Given the description of an element on the screen output the (x, y) to click on. 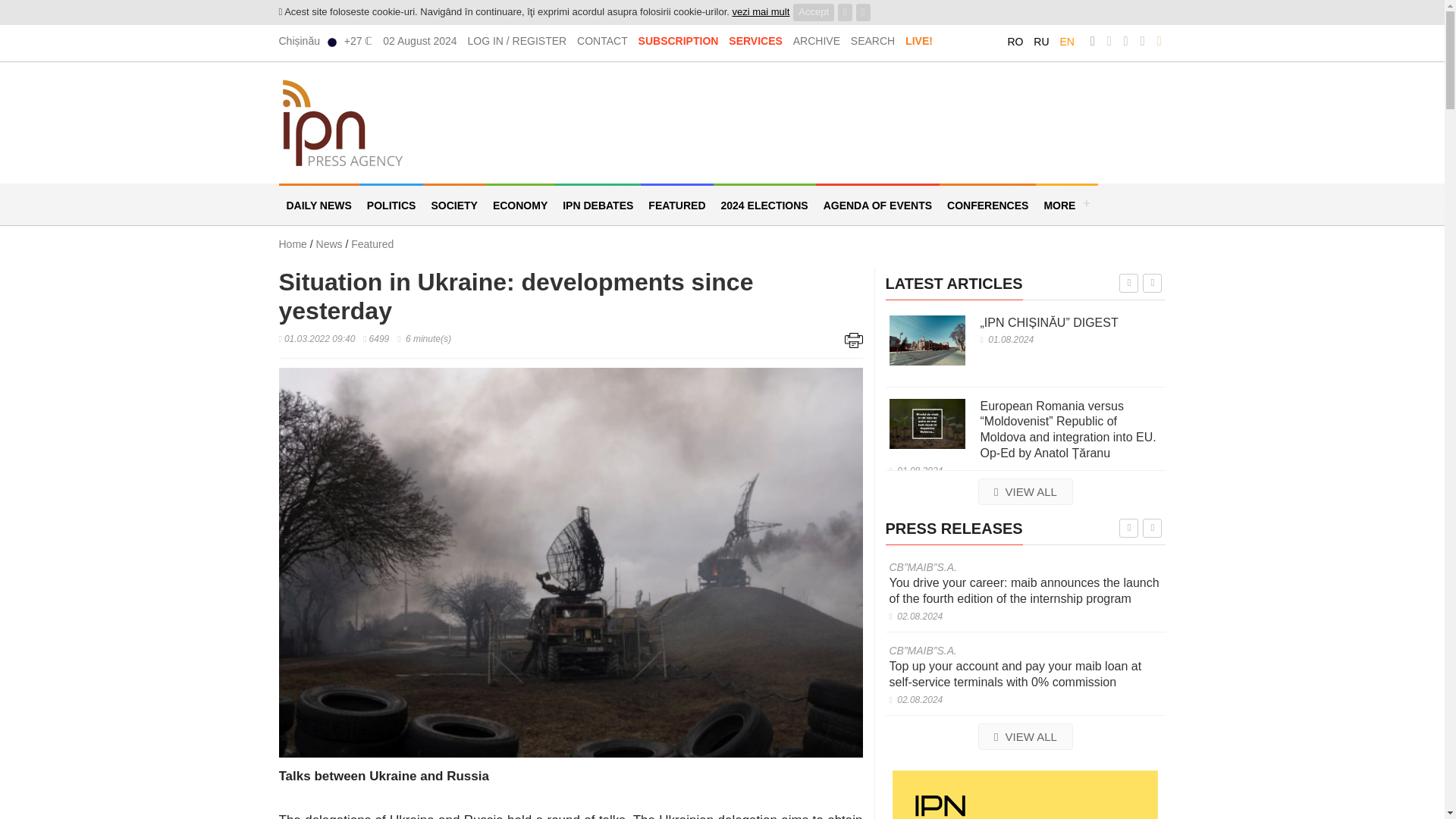
MORE (1066, 204)
youtube (1142, 41)
SUBSCRIPTION (679, 41)
vezi mai mult (760, 11)
Accept (813, 12)
Featured (371, 244)
News (330, 244)
AGENDA OF EVENTS (877, 204)
Reading time (424, 338)
2024 ELECTIONS (764, 204)
